Given the description of an element on the screen output the (x, y) to click on. 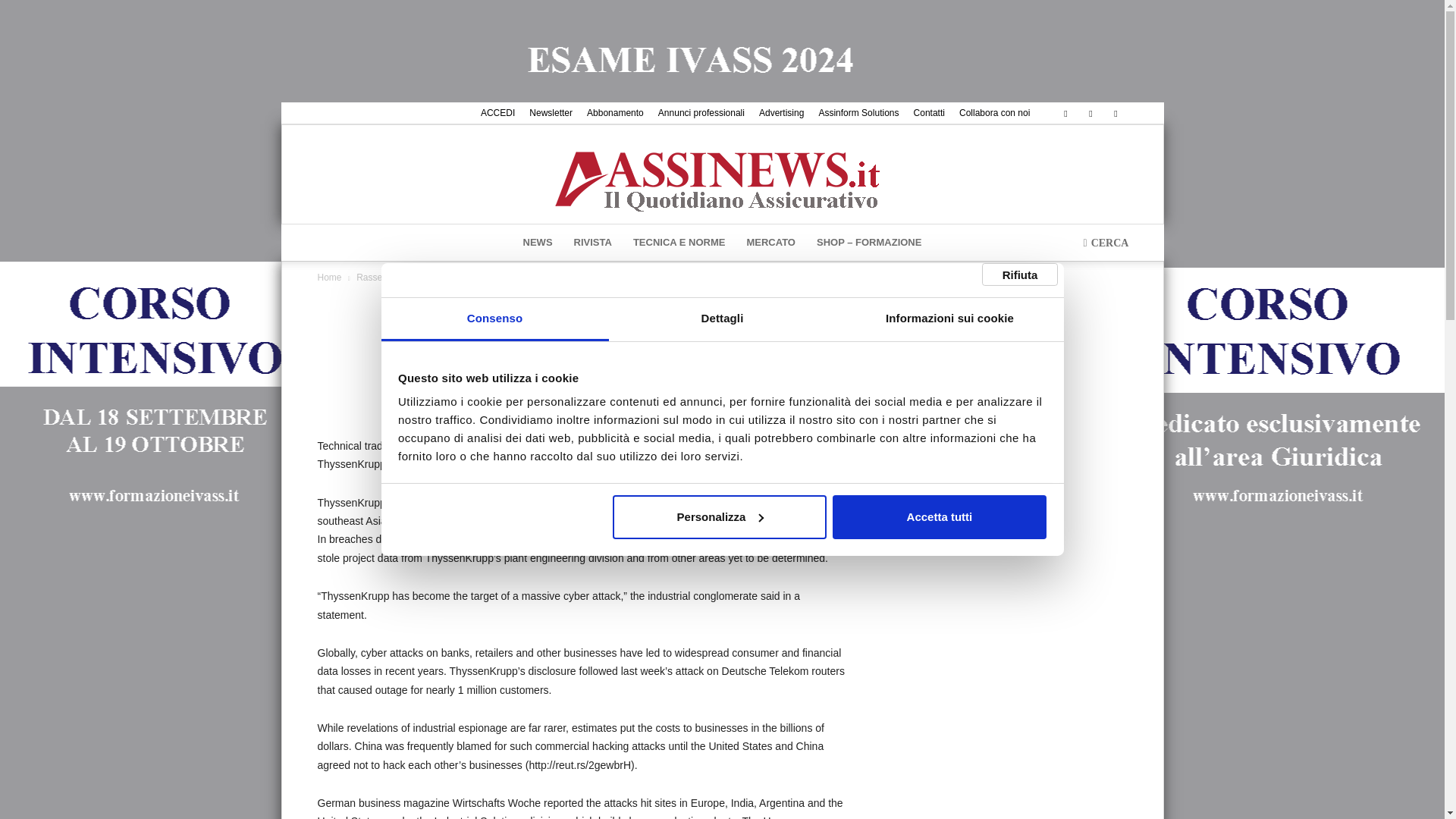
Informazioni sui cookie (948, 319)
Consenso (494, 319)
Dettagli (721, 319)
